Given the description of an element on the screen output the (x, y) to click on. 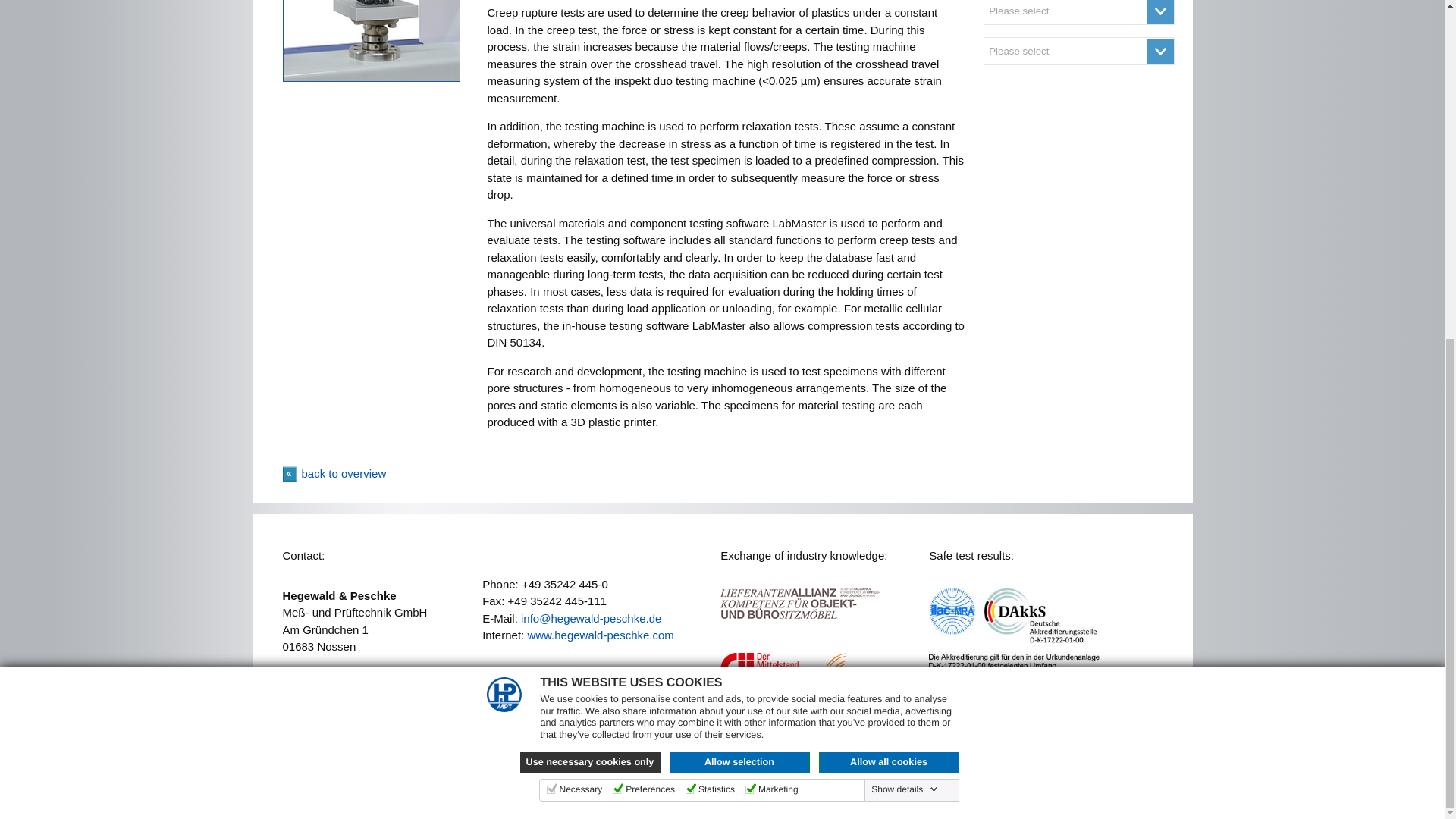
Show details (903, 215)
Allow selection (738, 188)
Use necessary cookies only (590, 188)
Allow all cookies (888, 188)
